Given the description of an element on the screen output the (x, y) to click on. 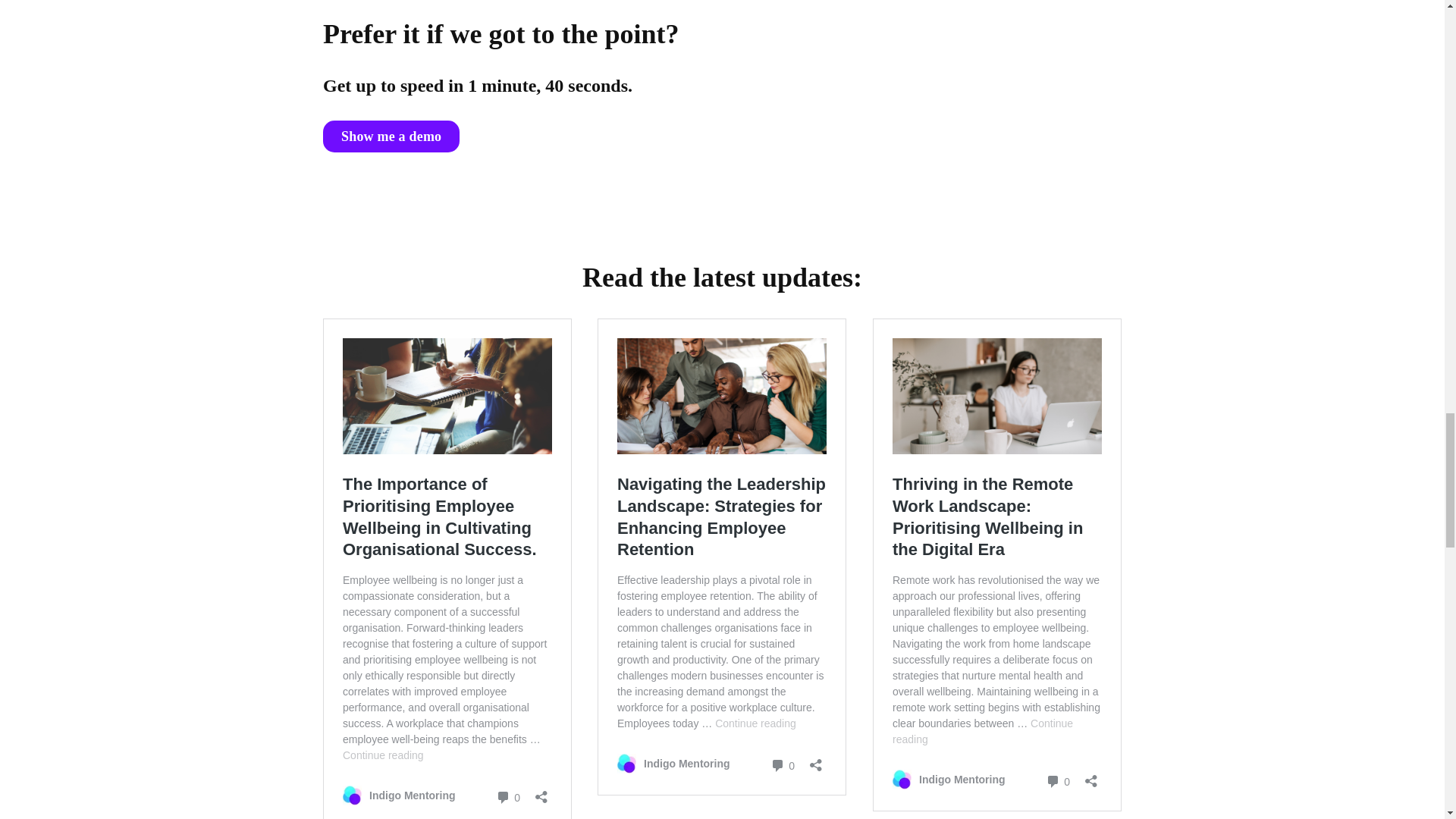
The unknown Indigo of infinite possibility (928, 101)
Show me a demo (391, 136)
